Given the description of an element on the screen output the (x, y) to click on. 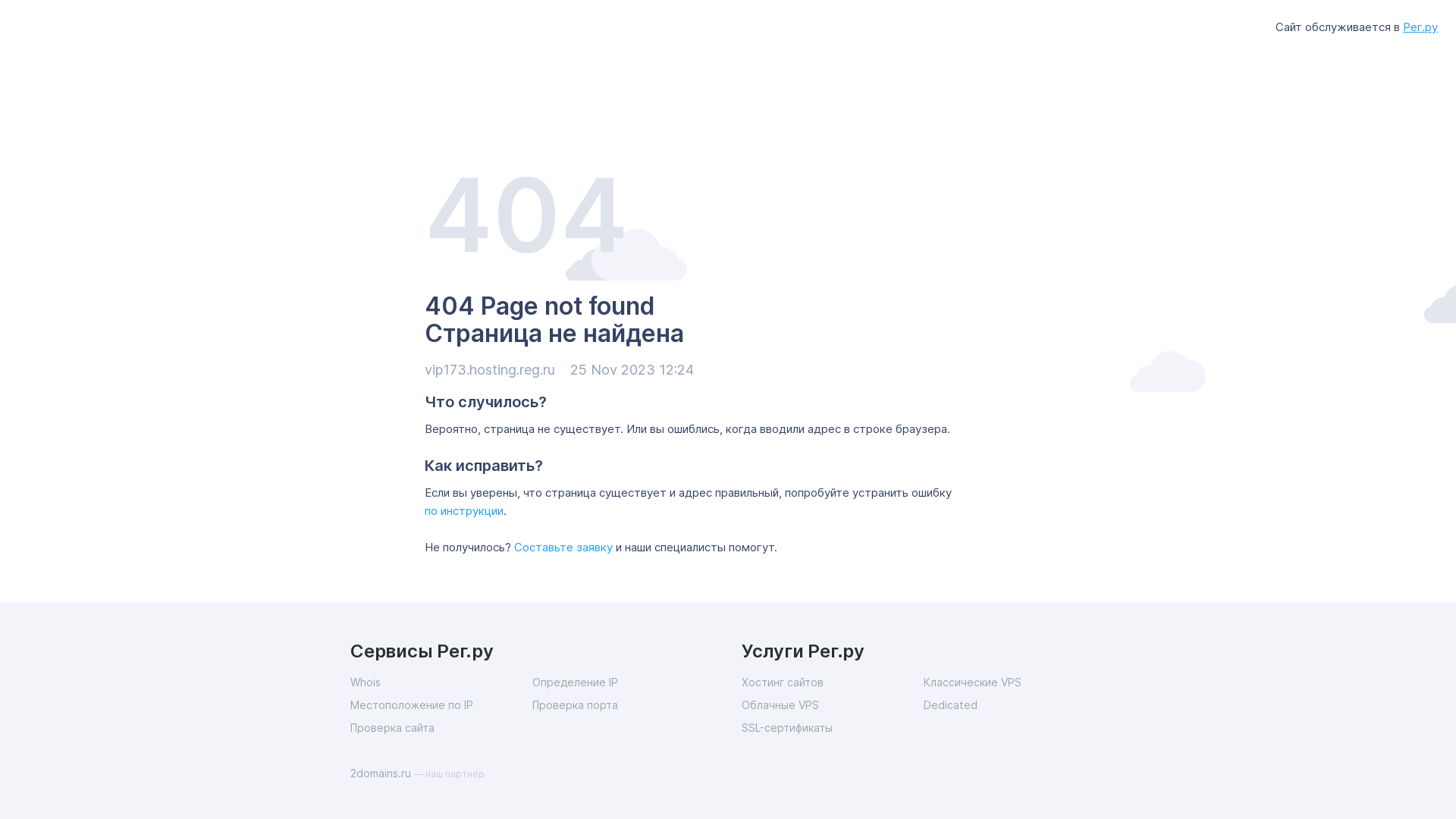
Dedicated Element type: text (1014, 705)
2domains.ru Element type: text (382, 772)
Whois Element type: text (441, 682)
